Given the description of an element on the screen output the (x, y) to click on. 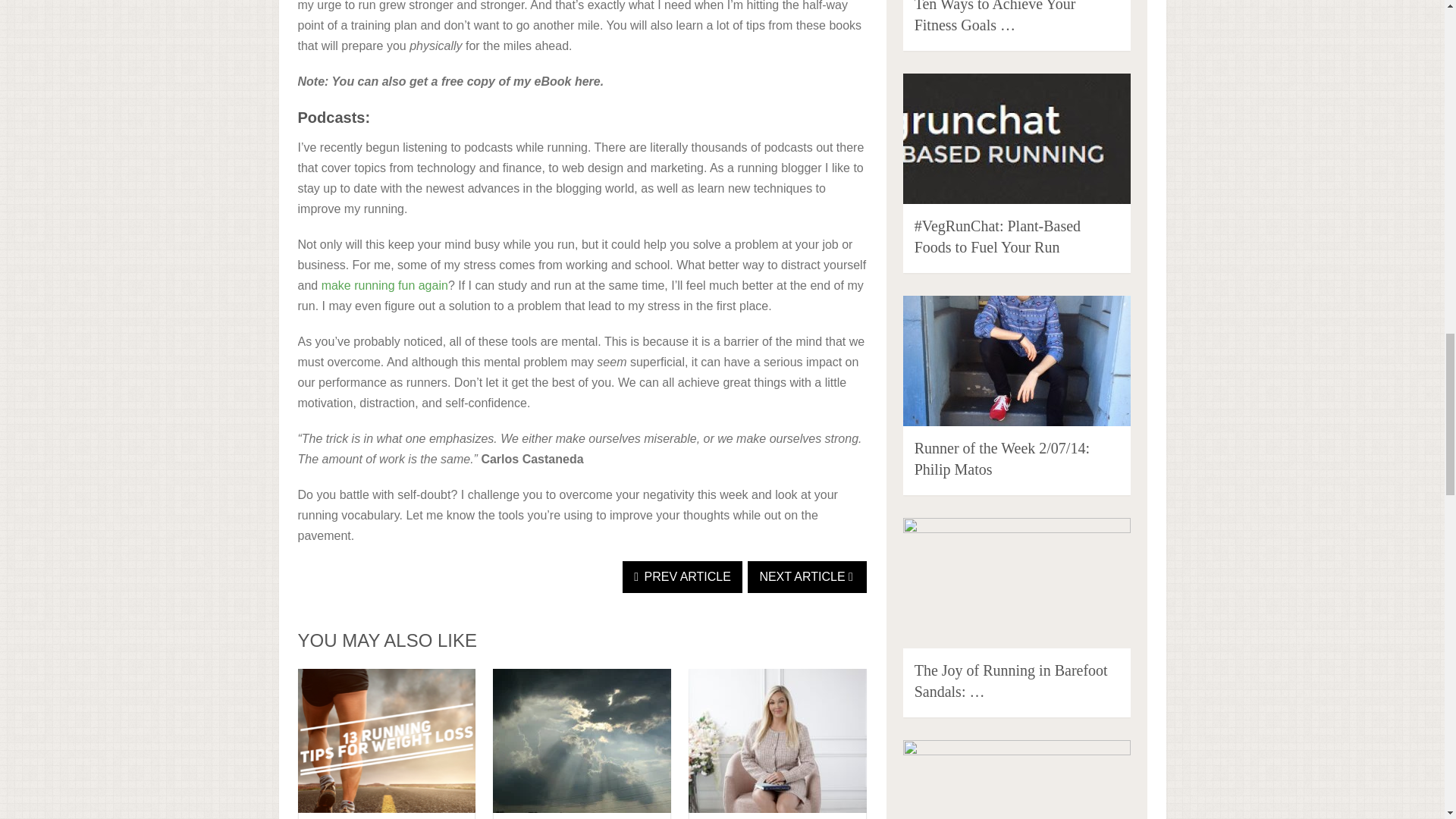
Simply Safety Tips for Running at Night (582, 741)
13 Easy Running Tips for Weight Loss (386, 741)
make running fun again (384, 285)
PREV ARTICLE (682, 576)
NEXT ARTICLE (807, 576)
